Given the description of an element on the screen output the (x, y) to click on. 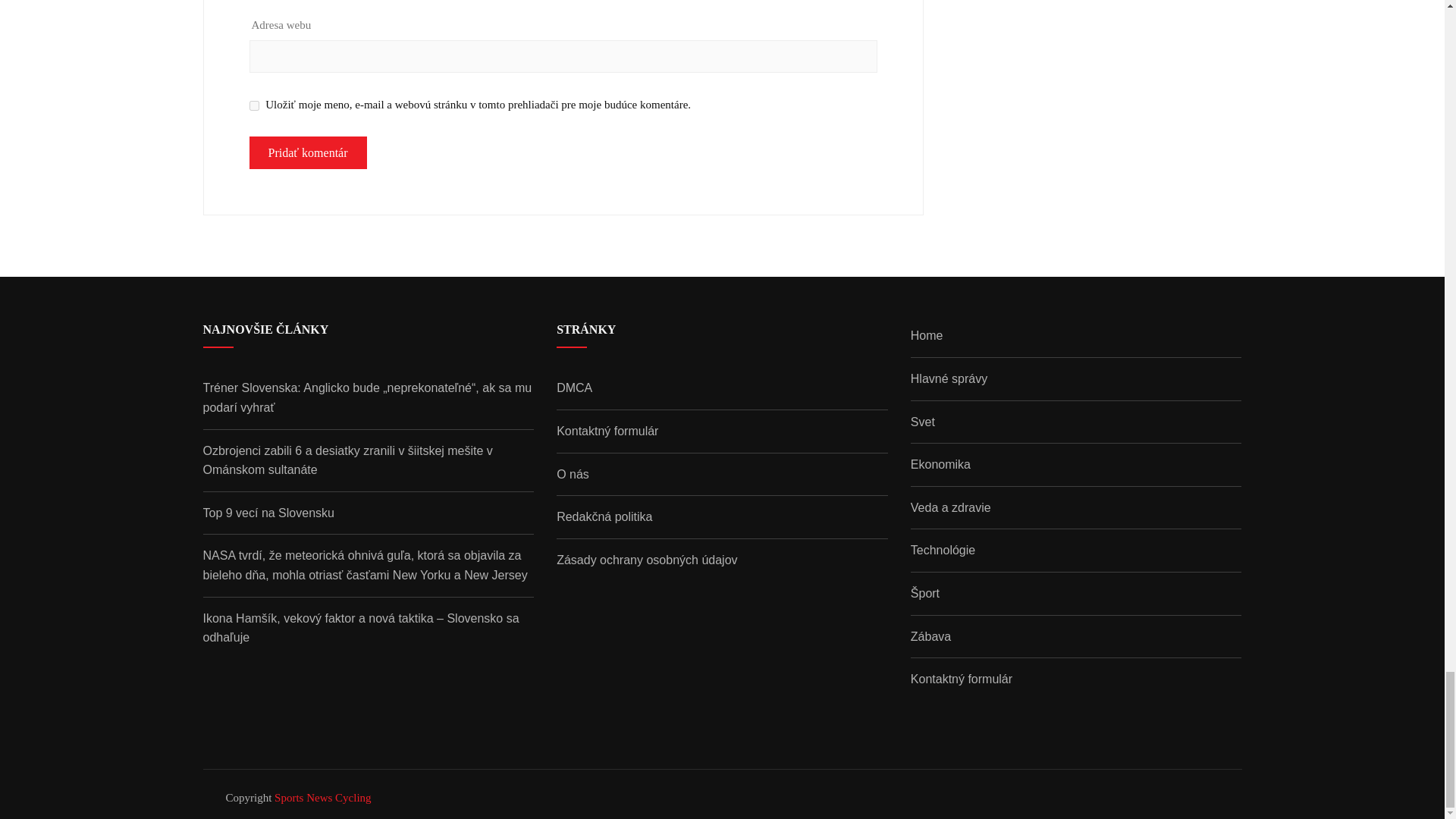
yes (253, 105)
